Given the description of an element on the screen output the (x, y) to click on. 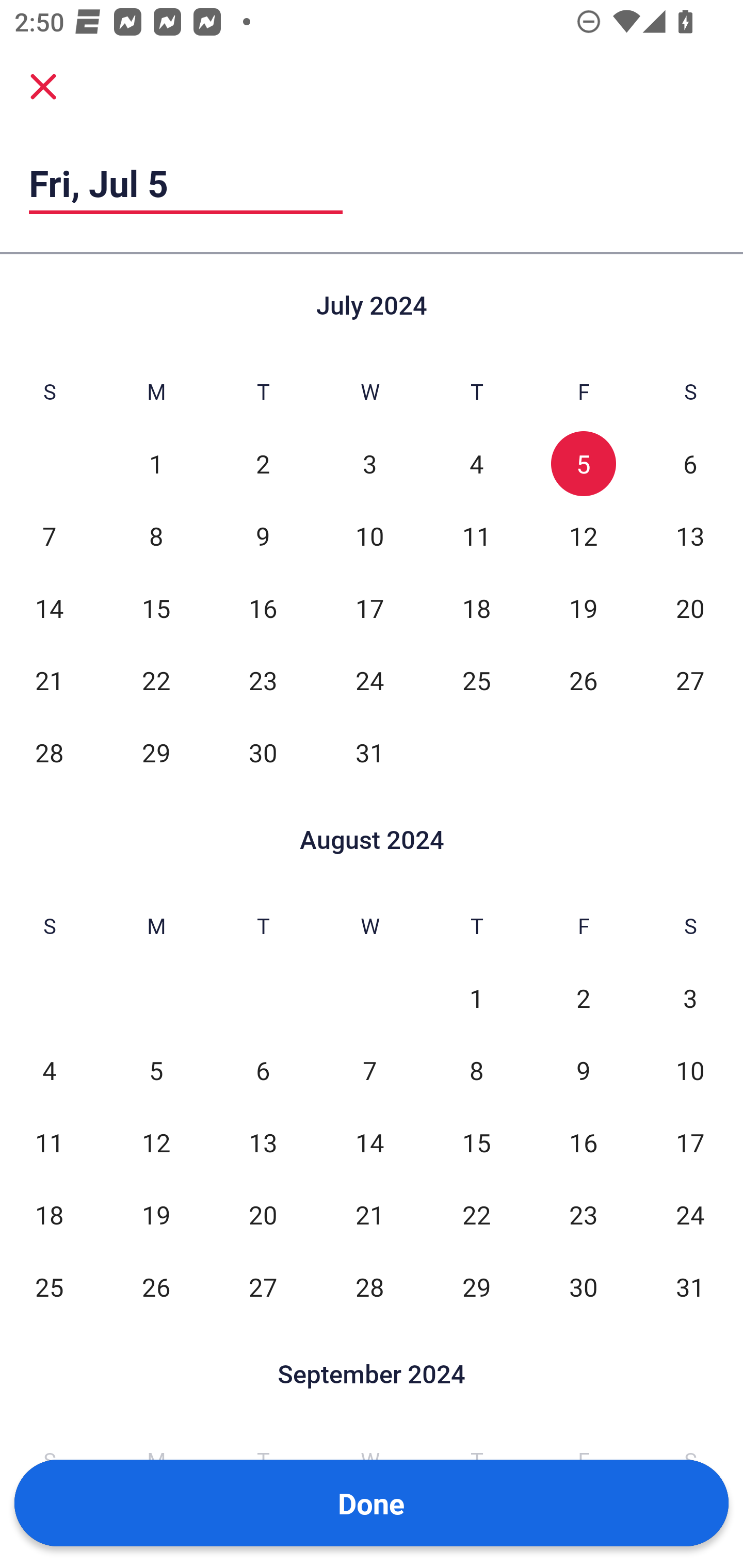
Cancel (43, 86)
Fri, Jul 5 (185, 182)
1 Mon, Jul 1, Not Selected (156, 464)
2 Tue, Jul 2, Not Selected (263, 464)
3 Wed, Jul 3, Not Selected (369, 464)
4 Thu, Jul 4, Not Selected (476, 464)
5 Fri, Jul 5, Selected (583, 464)
6 Sat, Jul 6, Not Selected (690, 464)
7 Sun, Jul 7, Not Selected (49, 536)
8 Mon, Jul 8, Not Selected (156, 536)
9 Tue, Jul 9, Not Selected (263, 536)
10 Wed, Jul 10, Not Selected (369, 536)
11 Thu, Jul 11, Not Selected (476, 536)
12 Fri, Jul 12, Not Selected (583, 536)
13 Sat, Jul 13, Not Selected (690, 536)
14 Sun, Jul 14, Not Selected (49, 608)
15 Mon, Jul 15, Not Selected (156, 608)
16 Tue, Jul 16, Not Selected (263, 608)
17 Wed, Jul 17, Not Selected (369, 608)
18 Thu, Jul 18, Not Selected (476, 608)
19 Fri, Jul 19, Not Selected (583, 608)
20 Sat, Jul 20, Not Selected (690, 608)
21 Sun, Jul 21, Not Selected (49, 680)
22 Mon, Jul 22, Not Selected (156, 680)
23 Tue, Jul 23, Not Selected (263, 680)
24 Wed, Jul 24, Not Selected (369, 680)
25 Thu, Jul 25, Not Selected (476, 680)
26 Fri, Jul 26, Not Selected (583, 680)
27 Sat, Jul 27, Not Selected (690, 680)
28 Sun, Jul 28, Not Selected (49, 752)
29 Mon, Jul 29, Not Selected (156, 752)
30 Tue, Jul 30, Not Selected (263, 752)
31 Wed, Jul 31, Not Selected (369, 752)
1 Thu, Aug 1, Not Selected (476, 997)
2 Fri, Aug 2, Not Selected (583, 997)
3 Sat, Aug 3, Not Selected (690, 997)
4 Sun, Aug 4, Not Selected (49, 1070)
5 Mon, Aug 5, Not Selected (156, 1070)
6 Tue, Aug 6, Not Selected (263, 1070)
7 Wed, Aug 7, Not Selected (369, 1070)
8 Thu, Aug 8, Not Selected (476, 1070)
9 Fri, Aug 9, Not Selected (583, 1070)
10 Sat, Aug 10, Not Selected (690, 1070)
11 Sun, Aug 11, Not Selected (49, 1143)
12 Mon, Aug 12, Not Selected (156, 1143)
13 Tue, Aug 13, Not Selected (263, 1143)
14 Wed, Aug 14, Not Selected (369, 1143)
15 Thu, Aug 15, Not Selected (476, 1143)
16 Fri, Aug 16, Not Selected (583, 1143)
17 Sat, Aug 17, Not Selected (690, 1143)
18 Sun, Aug 18, Not Selected (49, 1215)
19 Mon, Aug 19, Not Selected (156, 1215)
20 Tue, Aug 20, Not Selected (263, 1215)
21 Wed, Aug 21, Not Selected (369, 1215)
22 Thu, Aug 22, Not Selected (476, 1215)
23 Fri, Aug 23, Not Selected (583, 1215)
24 Sat, Aug 24, Not Selected (690, 1215)
25 Sun, Aug 25, Not Selected (49, 1287)
26 Mon, Aug 26, Not Selected (156, 1287)
27 Tue, Aug 27, Not Selected (263, 1287)
28 Wed, Aug 28, Not Selected (369, 1287)
29 Thu, Aug 29, Not Selected (476, 1287)
30 Fri, Aug 30, Not Selected (583, 1287)
31 Sat, Aug 31, Not Selected (690, 1287)
Done Button Done (371, 1502)
